Given the description of an element on the screen output the (x, y) to click on. 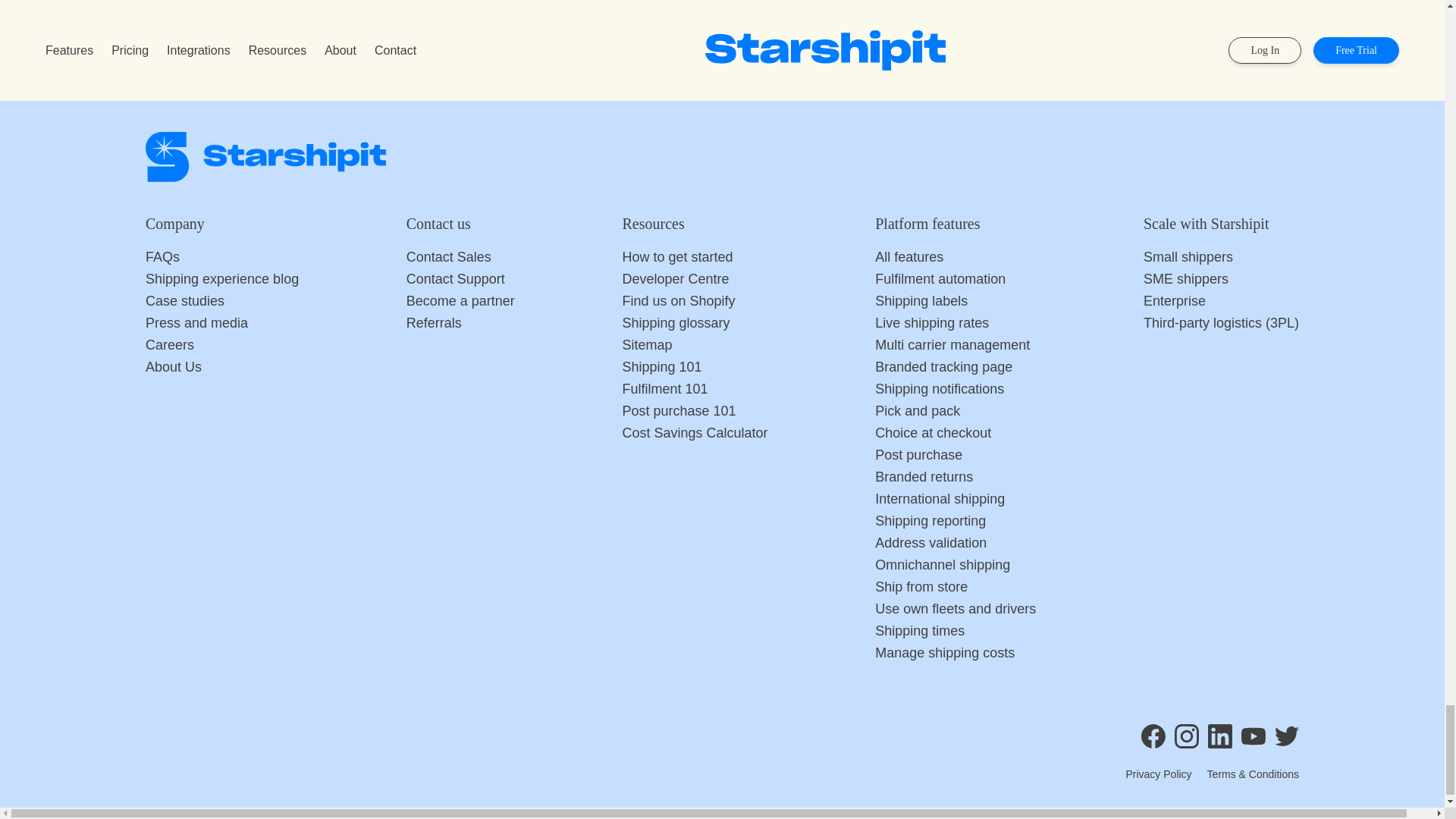
Press and media (221, 322)
Contact Support (460, 279)
FAQs (221, 257)
About Us (221, 367)
Careers (221, 344)
Become a partner (460, 301)
Contact Sales (460, 257)
Case studies (221, 301)
Shipping experience blog (221, 279)
